Given the description of an element on the screen output the (x, y) to click on. 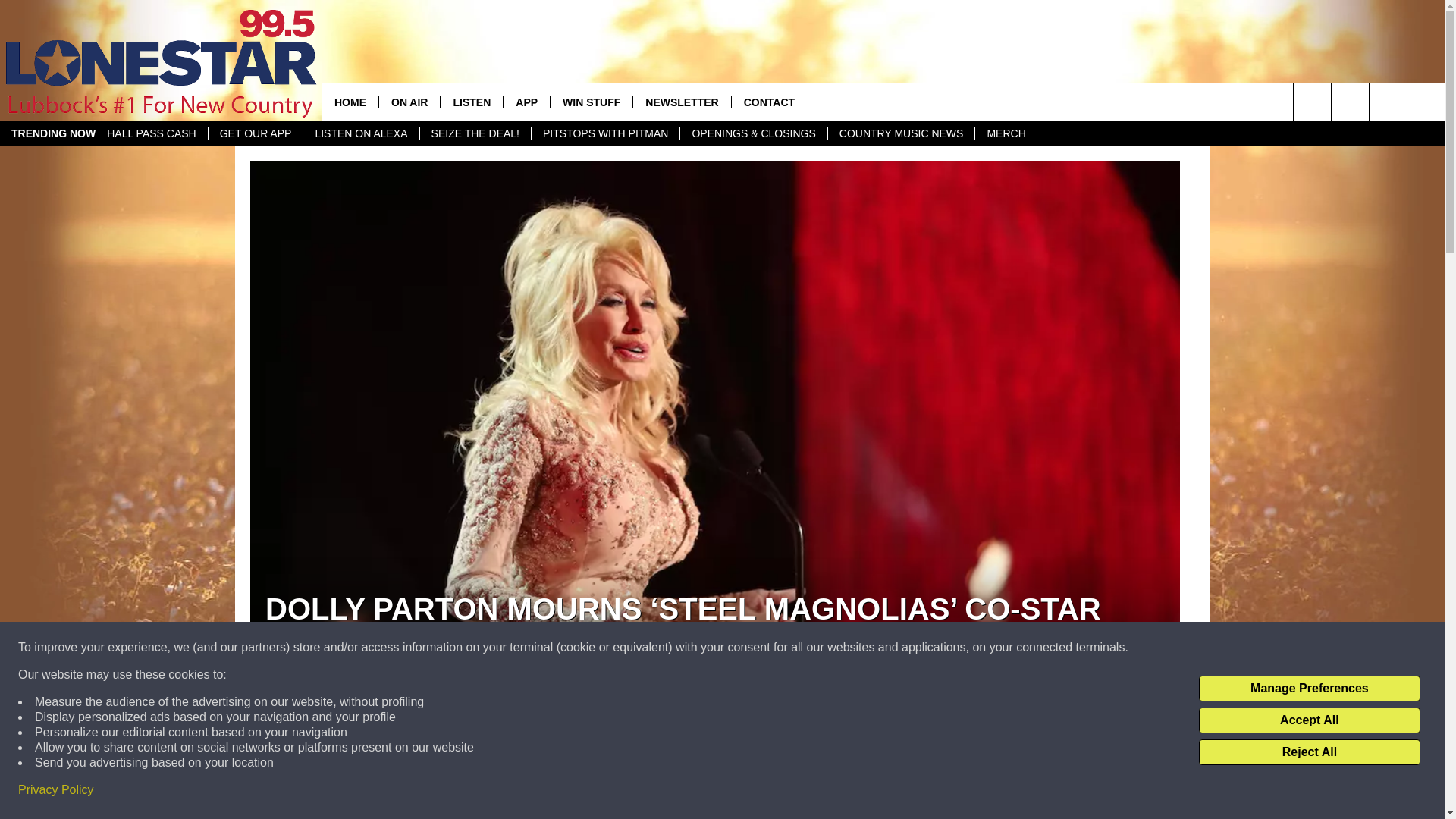
LISTEN (470, 102)
SEIZE THE DEAL! (475, 133)
MERCH (1005, 133)
Reject All (1309, 751)
Manage Preferences (1309, 688)
Share on Twitter (912, 791)
HALL PASS CASH (152, 133)
HOME (349, 102)
Accept All (1309, 720)
ON AIR (408, 102)
COUNTRY MUSIC NEWS (901, 133)
GET OUR APP (255, 133)
Share on Facebook (517, 791)
APP (526, 102)
PITSTOPS WITH PITMAN (605, 133)
